Given the description of an element on the screen output the (x, y) to click on. 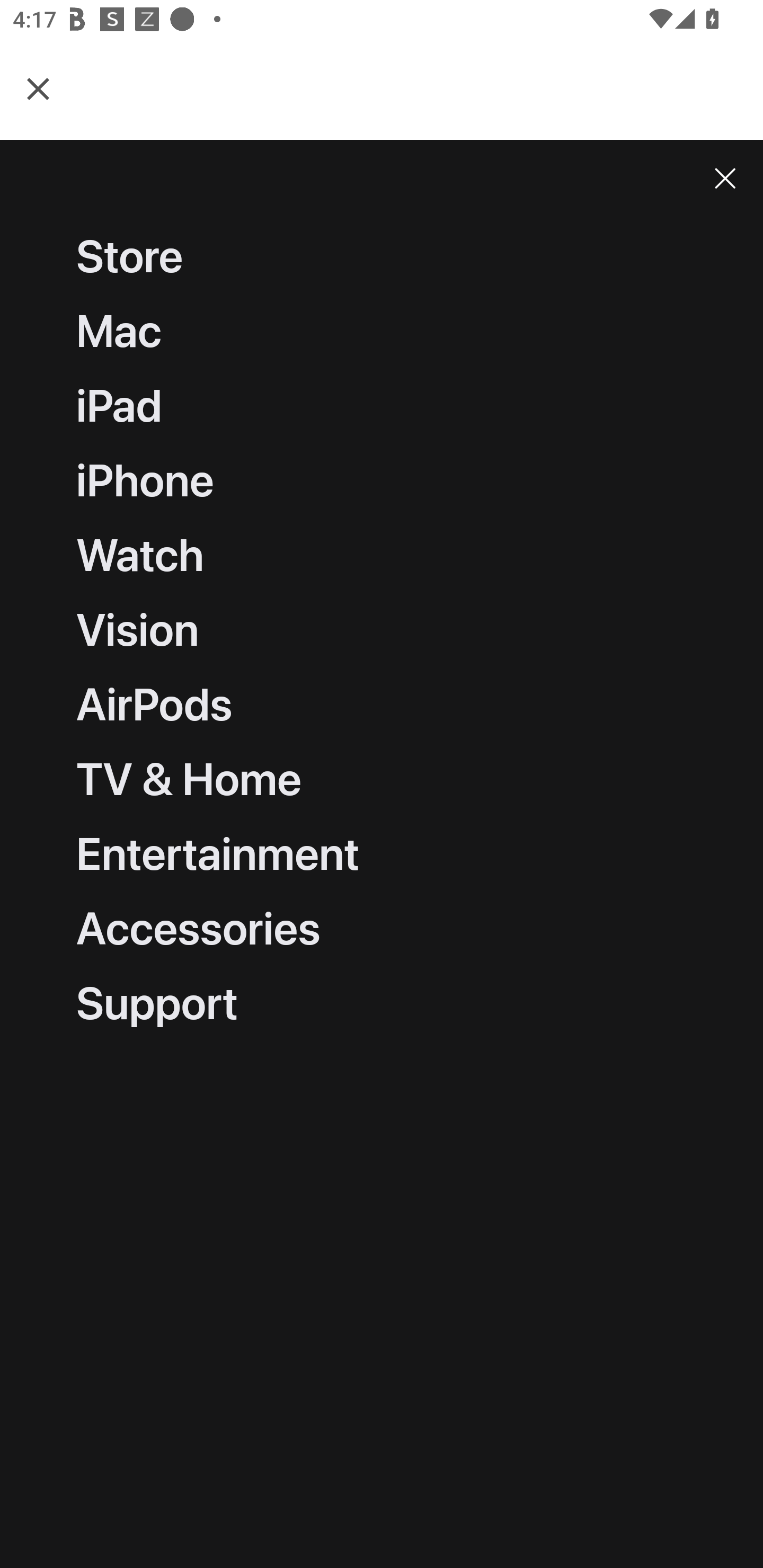
Close (38, 88)
Close (724, 177)
Store menu (381, 257)
Mac menu (381, 331)
iPad menu (381, 406)
iPhone menu (381, 481)
Watch menu (381, 555)
Vision menu (381, 631)
AirPods menu (381, 704)
TV and Home menu (381, 779)
Entertainment menu (381, 854)
Accessories menu (381, 927)
Support menu (381, 1000)
